Given the description of an element on the screen output the (x, y) to click on. 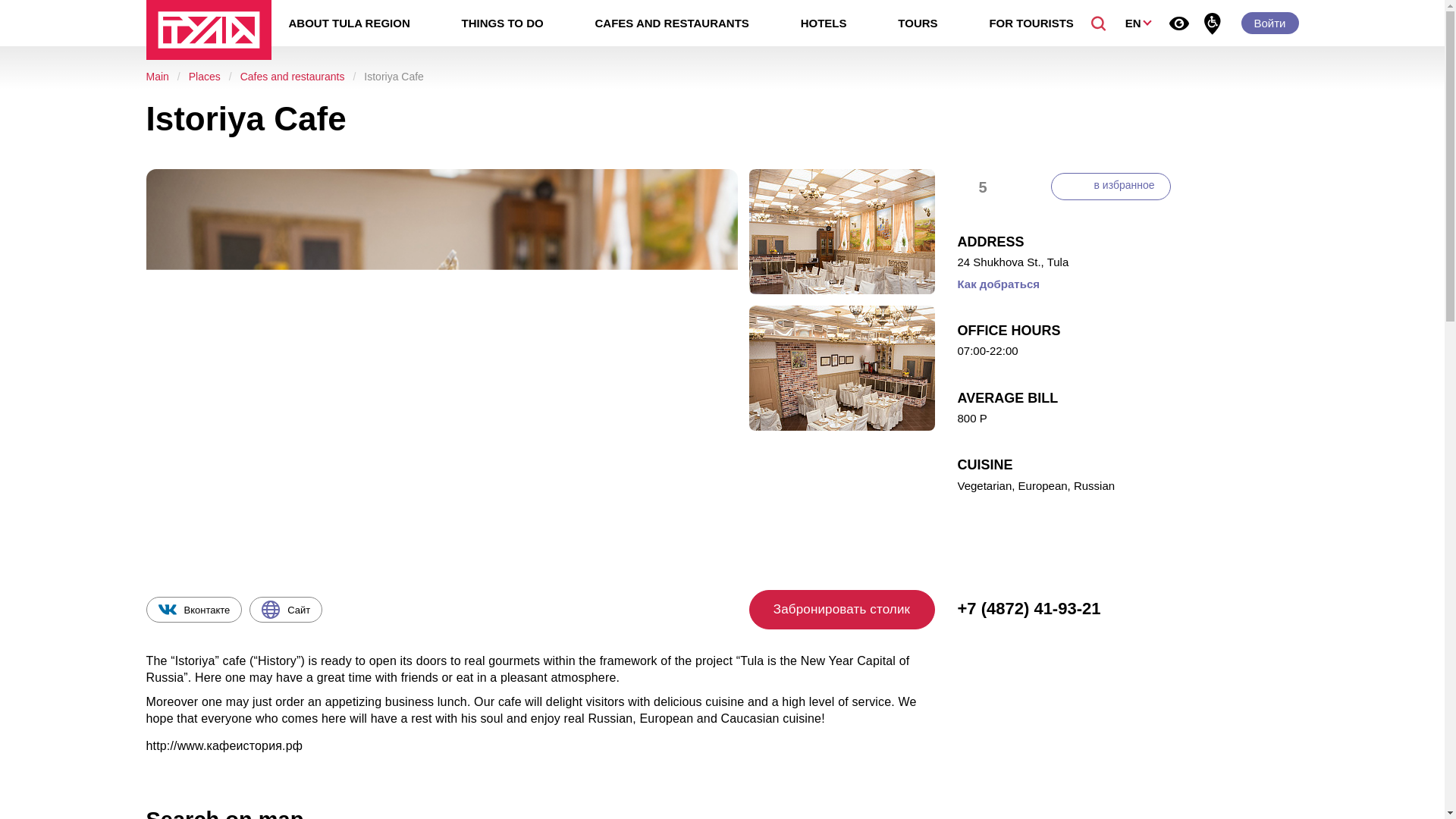
Places (205, 76)
Cafes and restaurants (292, 76)
Main (156, 76)
ABOUT TULA REGION (349, 22)
THINGS TO DO (503, 22)
